Given the description of an element on the screen output the (x, y) to click on. 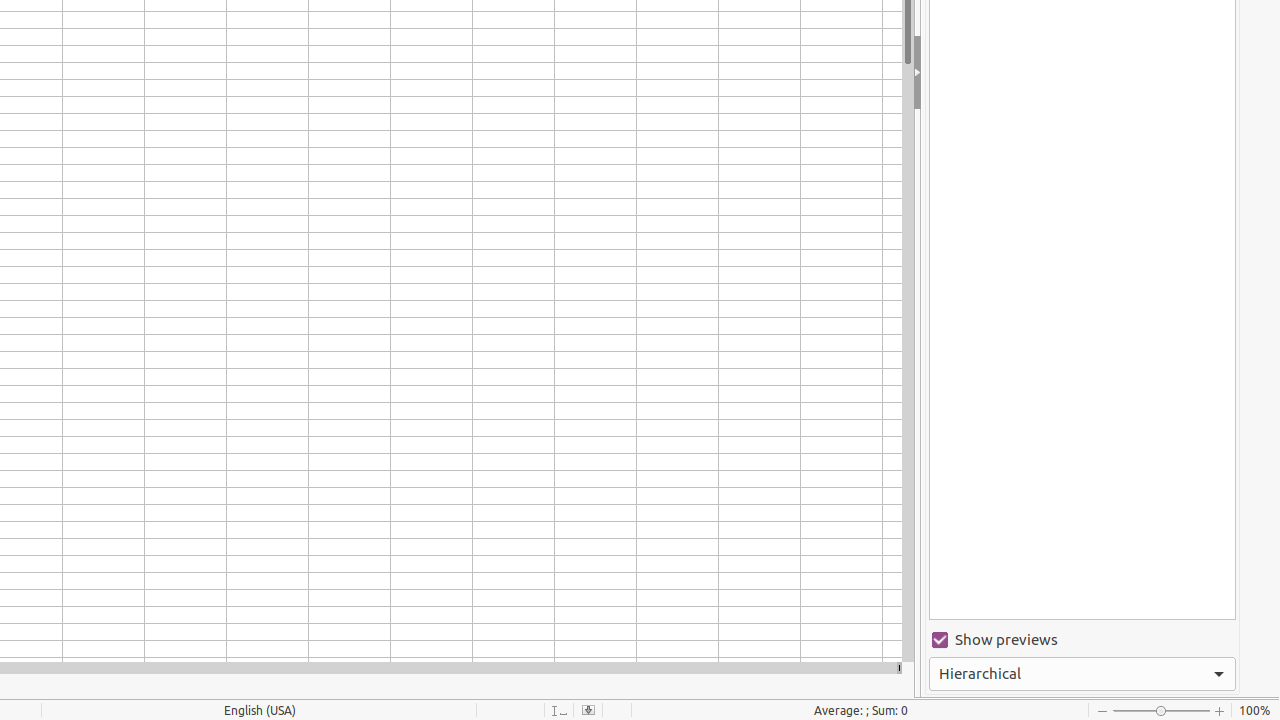
Show previews Element type: check-box (1082, 640)
